Given the description of an element on the screen output the (x, y) to click on. 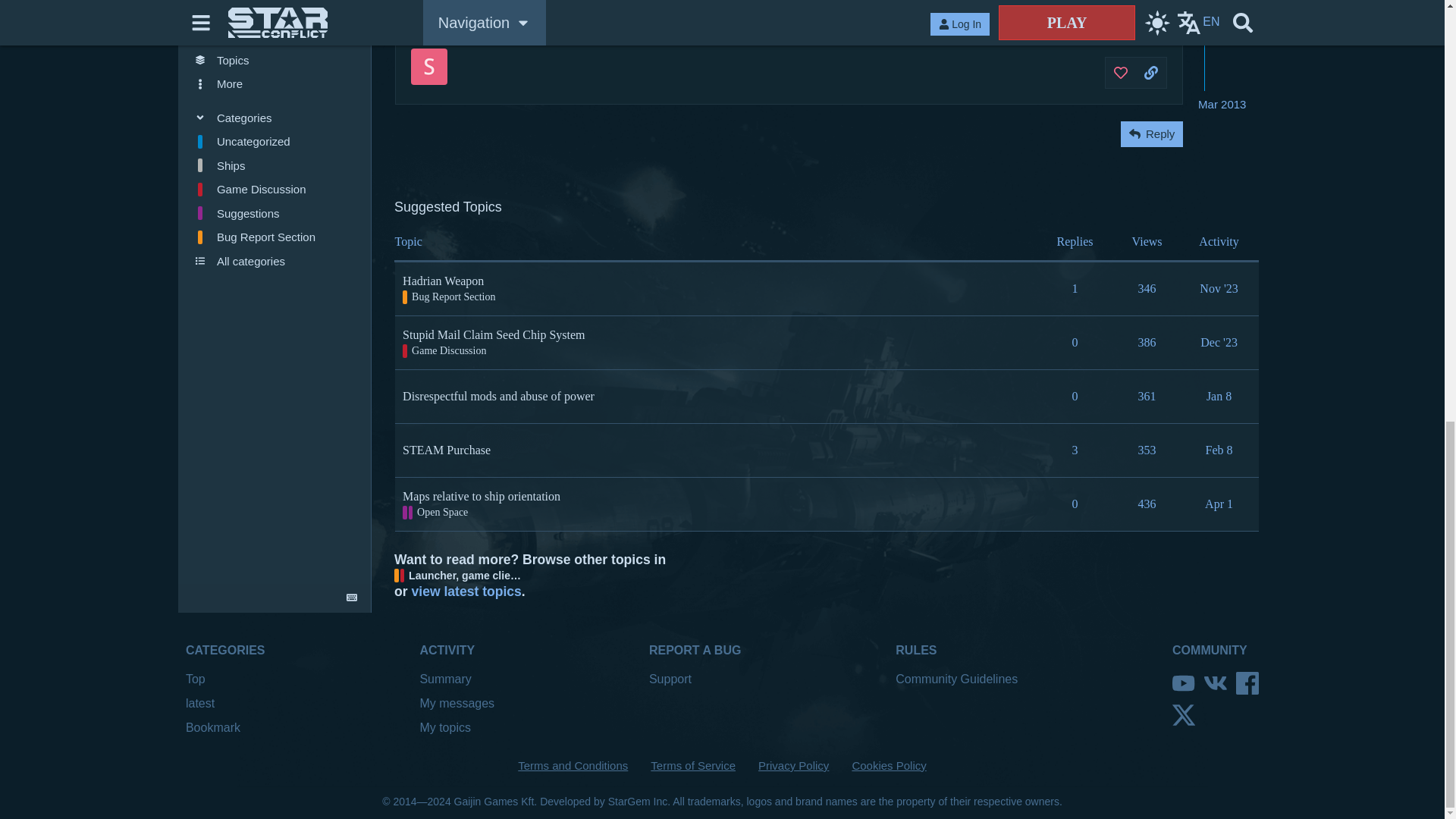
Disrespectful mods and abuse of power (498, 396)
Reply (1151, 134)
Dec '23 (1218, 342)
Nov '23 (1218, 288)
Hadrian Weapon (443, 280)
Stupid Mail Claim Seed Chip System (494, 334)
Game Discussion (444, 350)
Bug Report Section (449, 296)
